Given the description of an element on the screen output the (x, y) to click on. 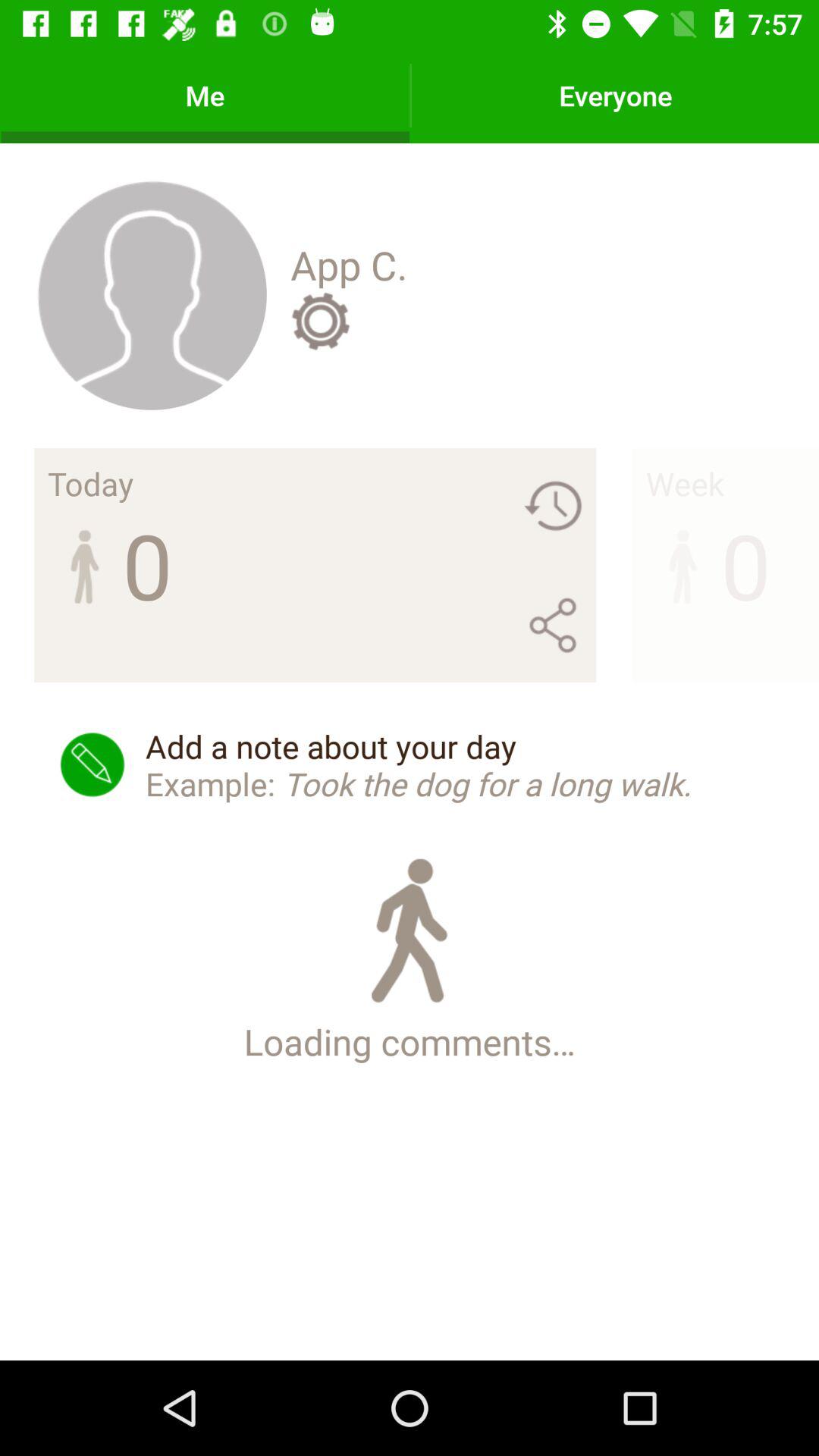
turn off icon below the app c. icon (320, 320)
